Given the description of an element on the screen output the (x, y) to click on. 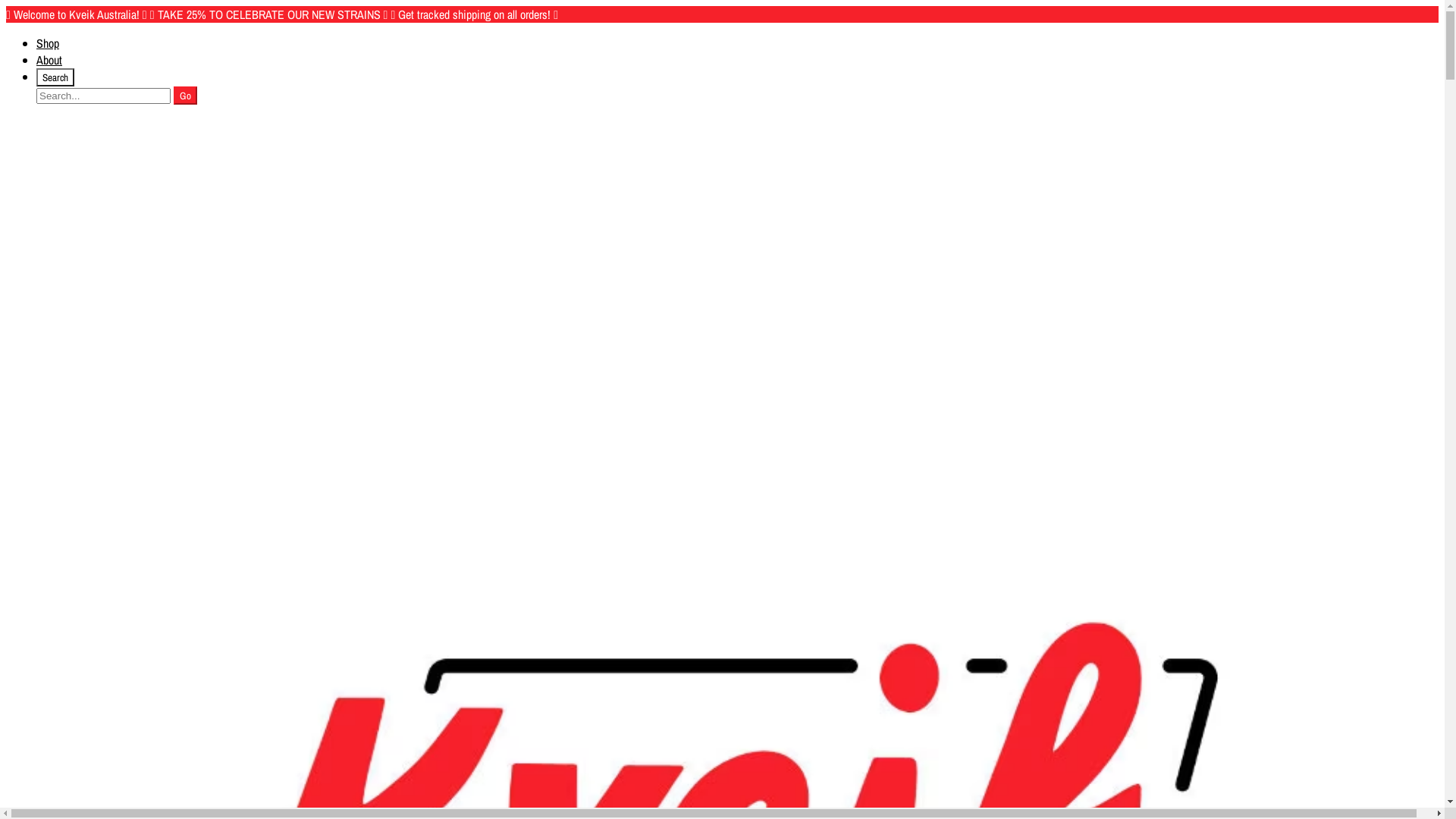
Shop Element type: text (47, 42)
Search Element type: text (55, 77)
Go Element type: text (185, 95)
About Element type: text (49, 59)
